Given the description of an element on the screen output the (x, y) to click on. 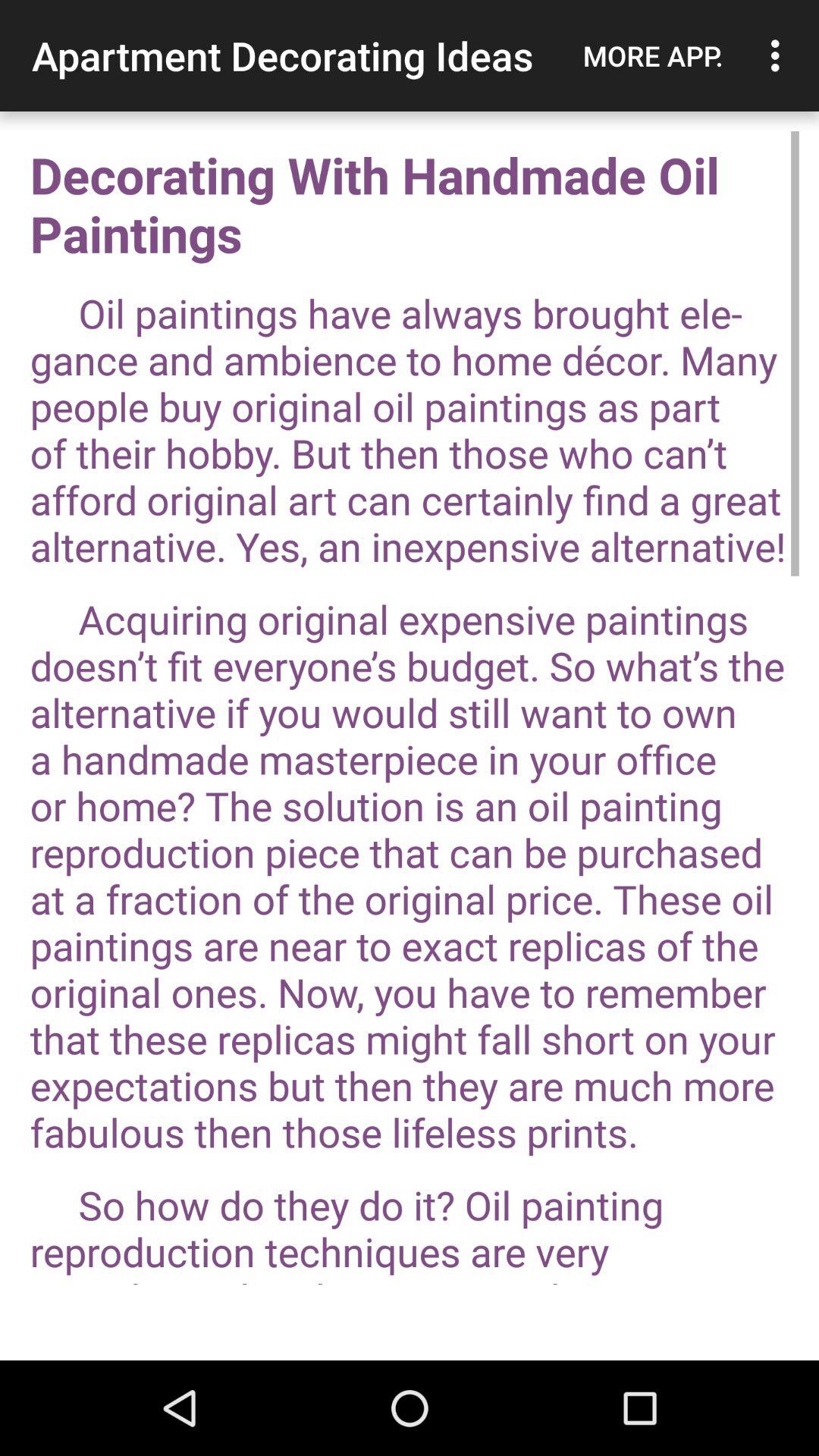
turn off the icon to the right of the more app. item (779, 55)
